Given the description of an element on the screen output the (x, y) to click on. 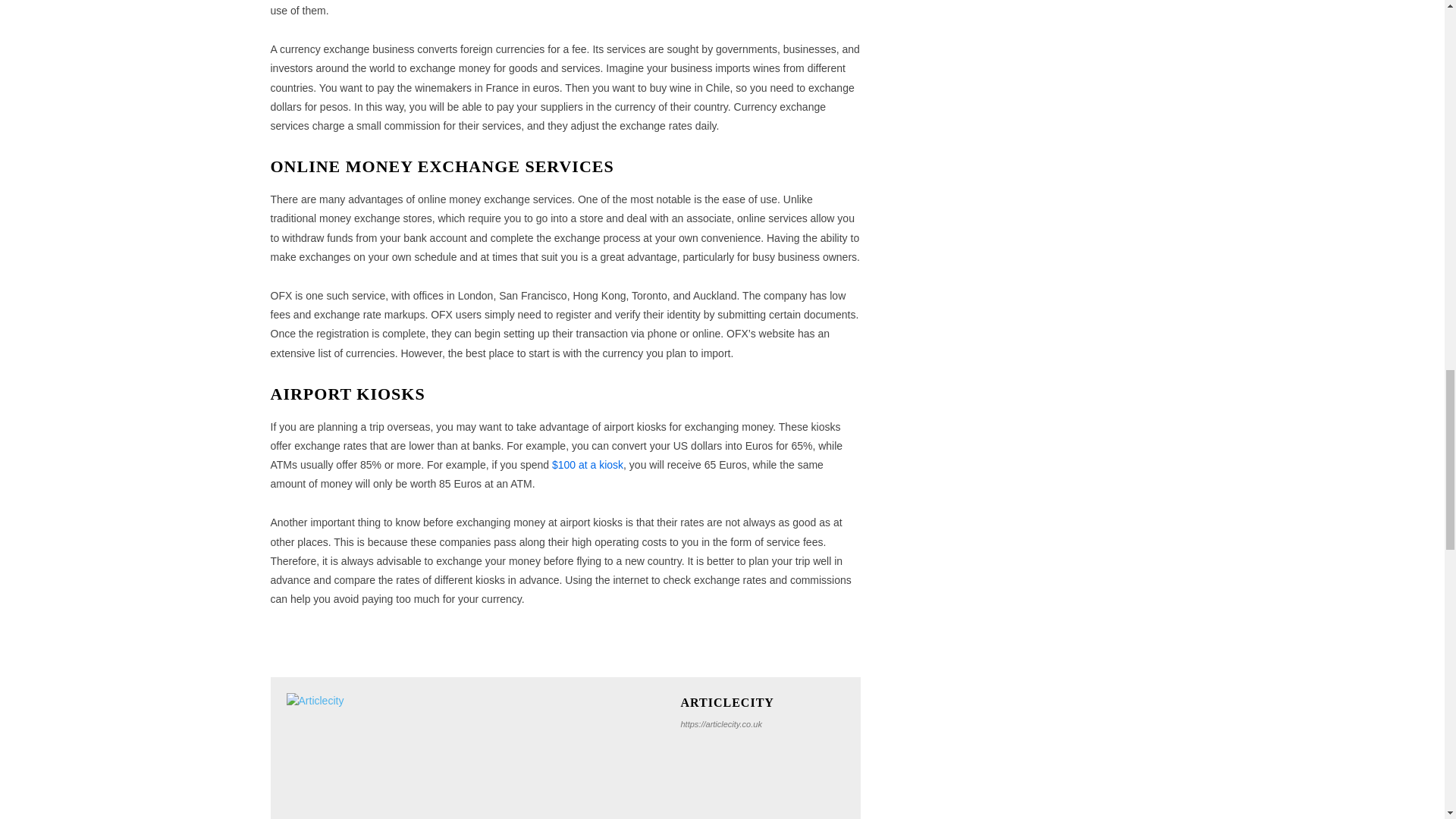
Articlecity (475, 755)
